Given the description of an element on the screen output the (x, y) to click on. 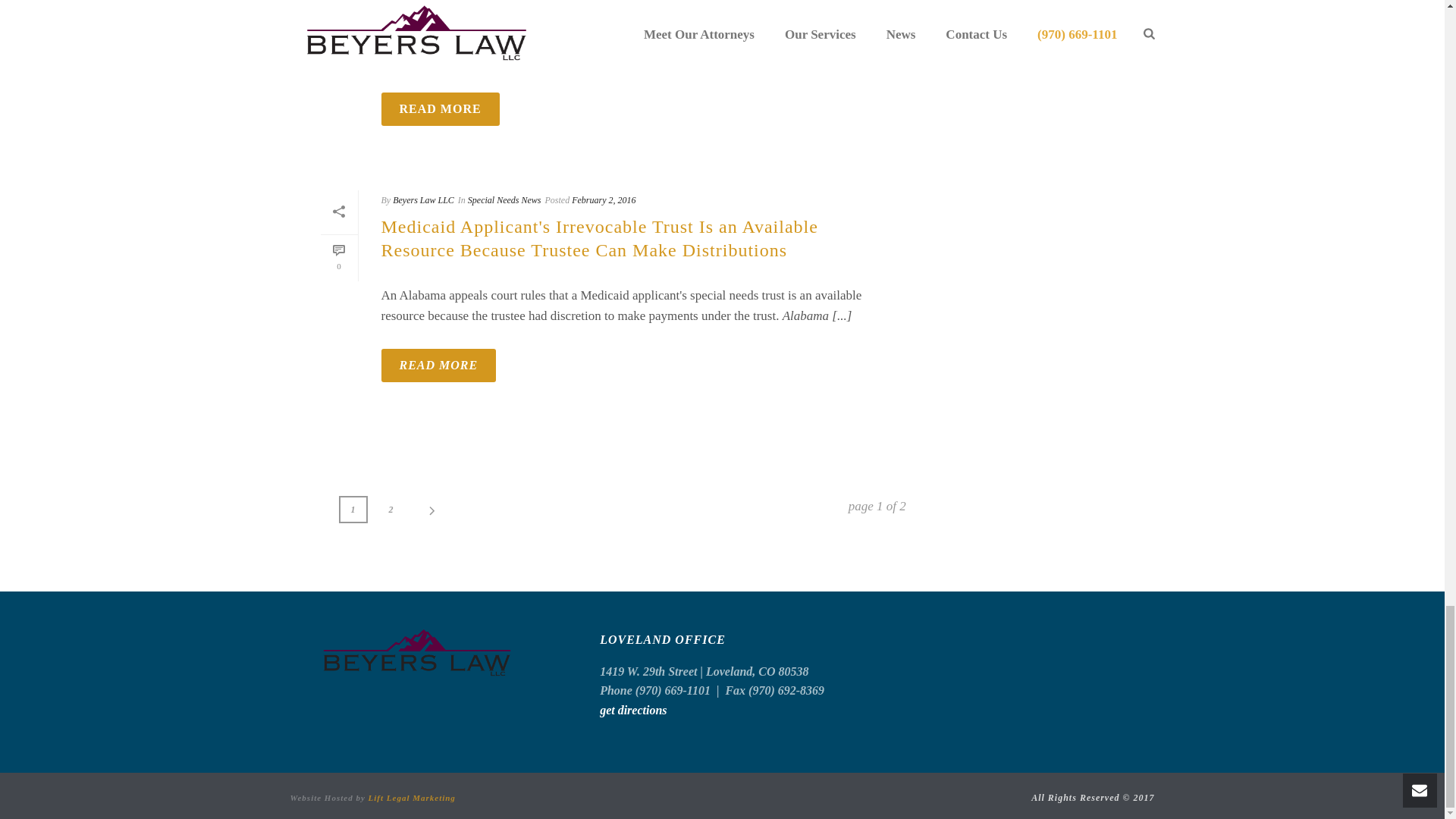
Posts by Beyers Law LLC (423, 199)
READ MORE (439, 109)
READ MORE (438, 365)
